Given the description of an element on the screen output the (x, y) to click on. 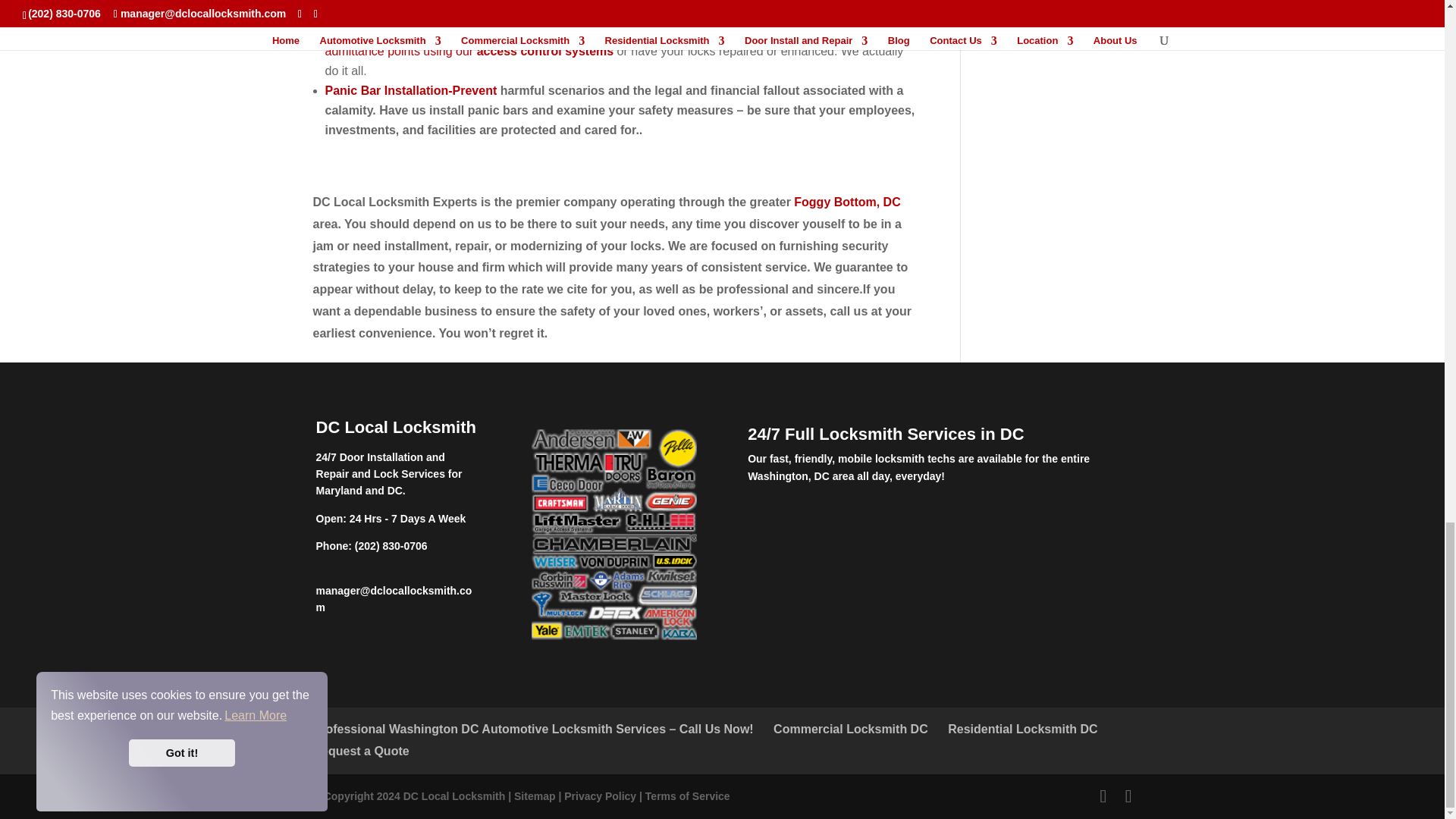
DCLocalLocksmith (454, 796)
